Given the description of an element on the screen output the (x, y) to click on. 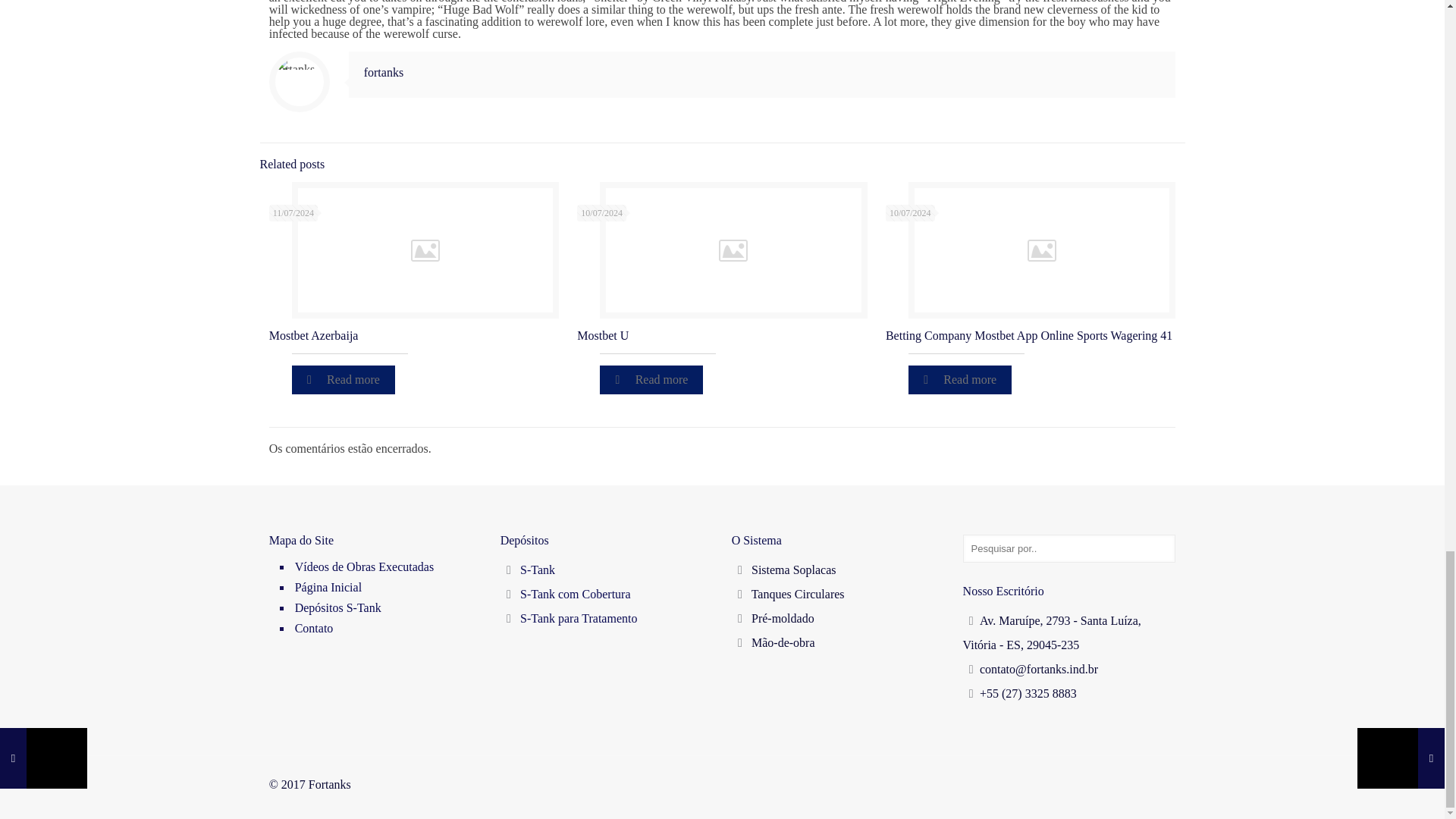
Read more (651, 379)
Read more (343, 379)
Contato (386, 629)
S-Tank para Tratamento (578, 617)
Mostbet U (602, 335)
Betting Company Mostbet App Online Sports Wagering 41 (1028, 335)
S-Tank (536, 569)
Mostbet Azerbaija (313, 335)
fortanks (383, 72)
S-Tank com Cobertura (574, 594)
